Given the description of an element on the screen output the (x, y) to click on. 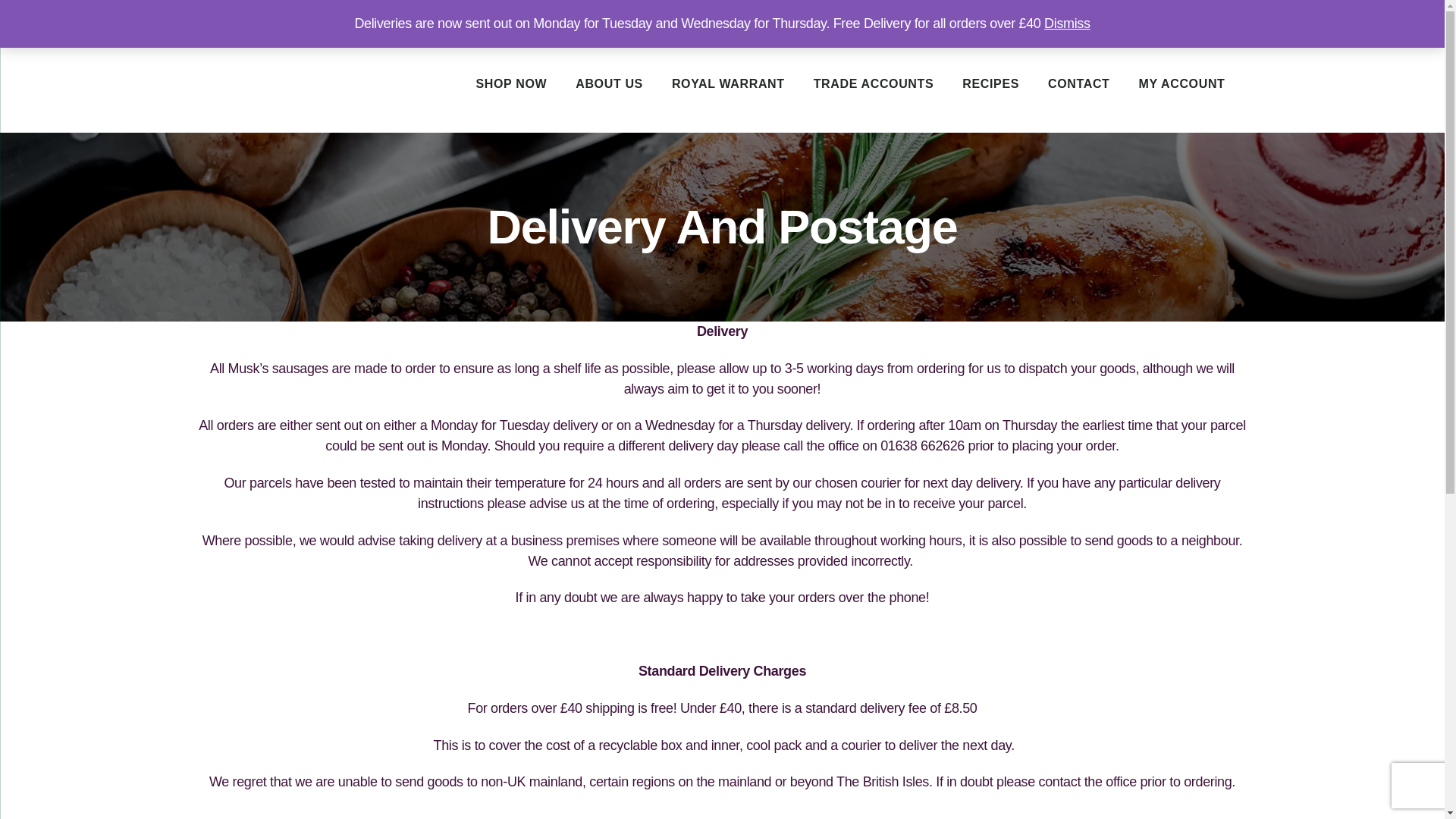
01638 662626 (1157, 18)
ROYAL WARRANT (728, 83)
CONTACT (1078, 83)
TRADE ACCOUNTS (873, 83)
SHOP NOW (510, 83)
ABOUT US (609, 83)
MY ACCOUNT (1181, 83)
RECIPES (990, 83)
